Given the description of an element on the screen output the (x, y) to click on. 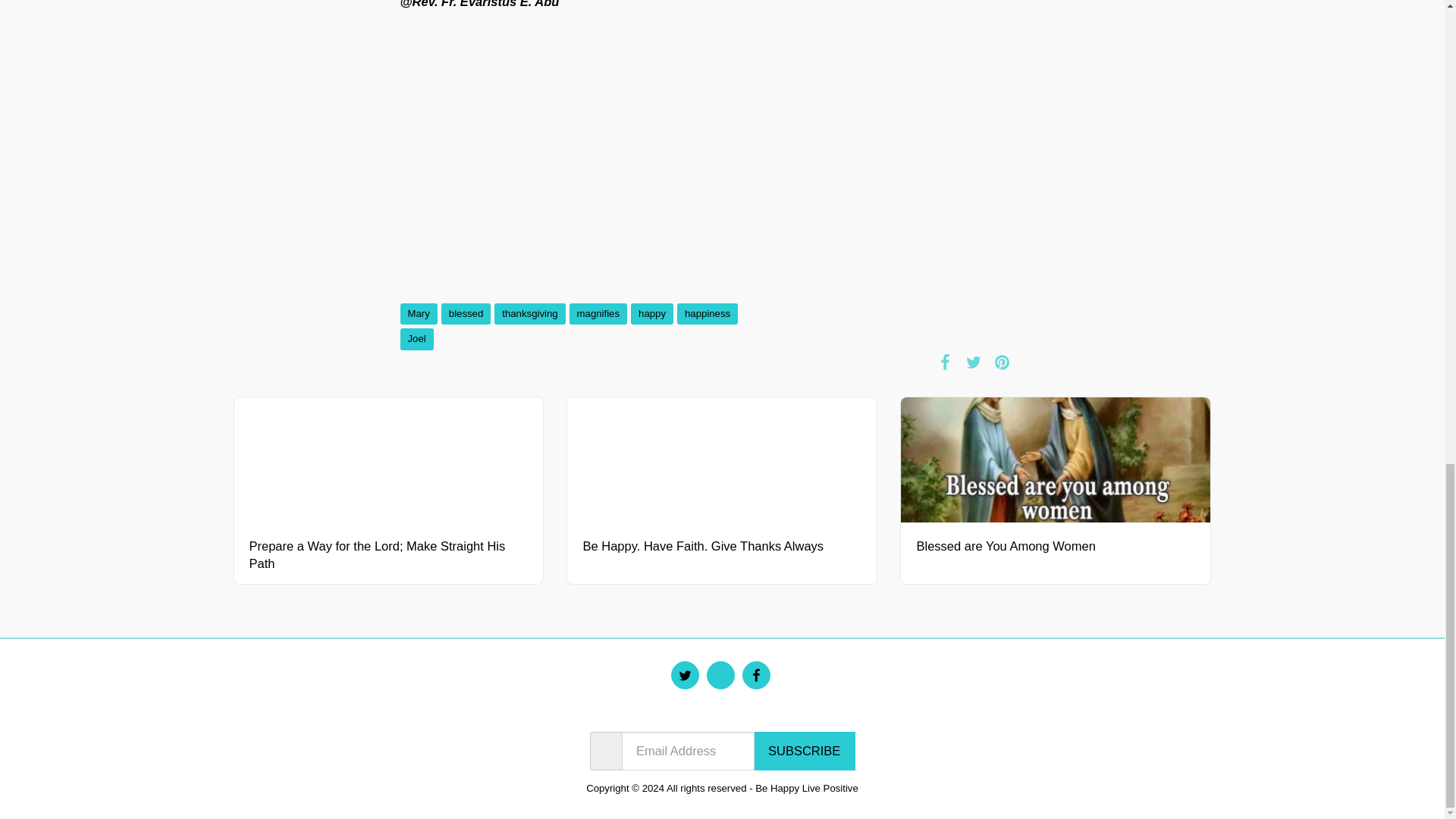
Mary (419, 313)
magnifies (598, 313)
Tweet (973, 361)
blessed (465, 313)
Pin it (1002, 361)
RSS (1029, 361)
thanksgiving (529, 313)
Joel (416, 339)
happiness (707, 313)
happy (651, 313)
Share on Facebook (945, 361)
